Given the description of an element on the screen output the (x, y) to click on. 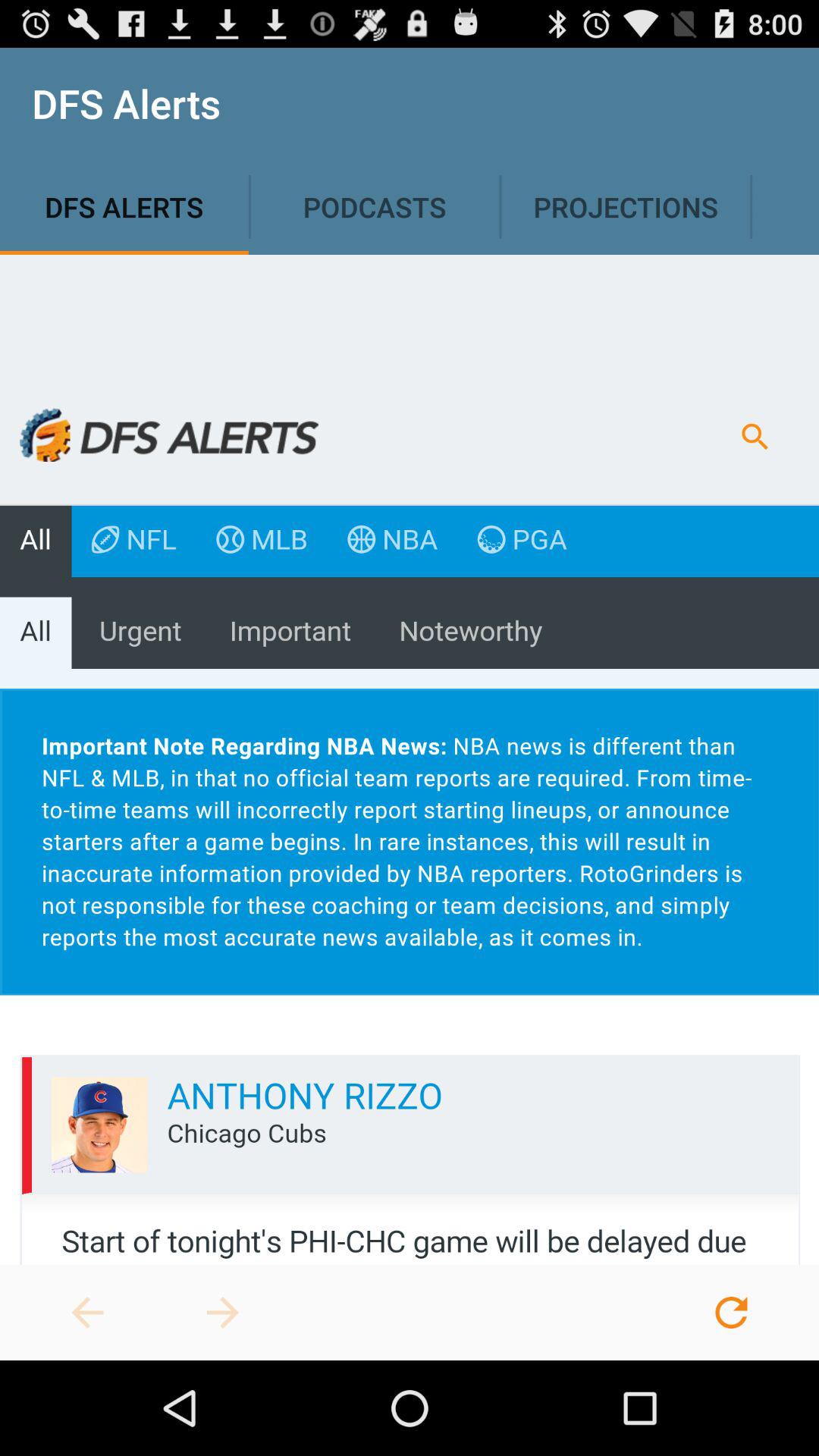
refresh page (731, 1312)
